Given the description of an element on the screen output the (x, y) to click on. 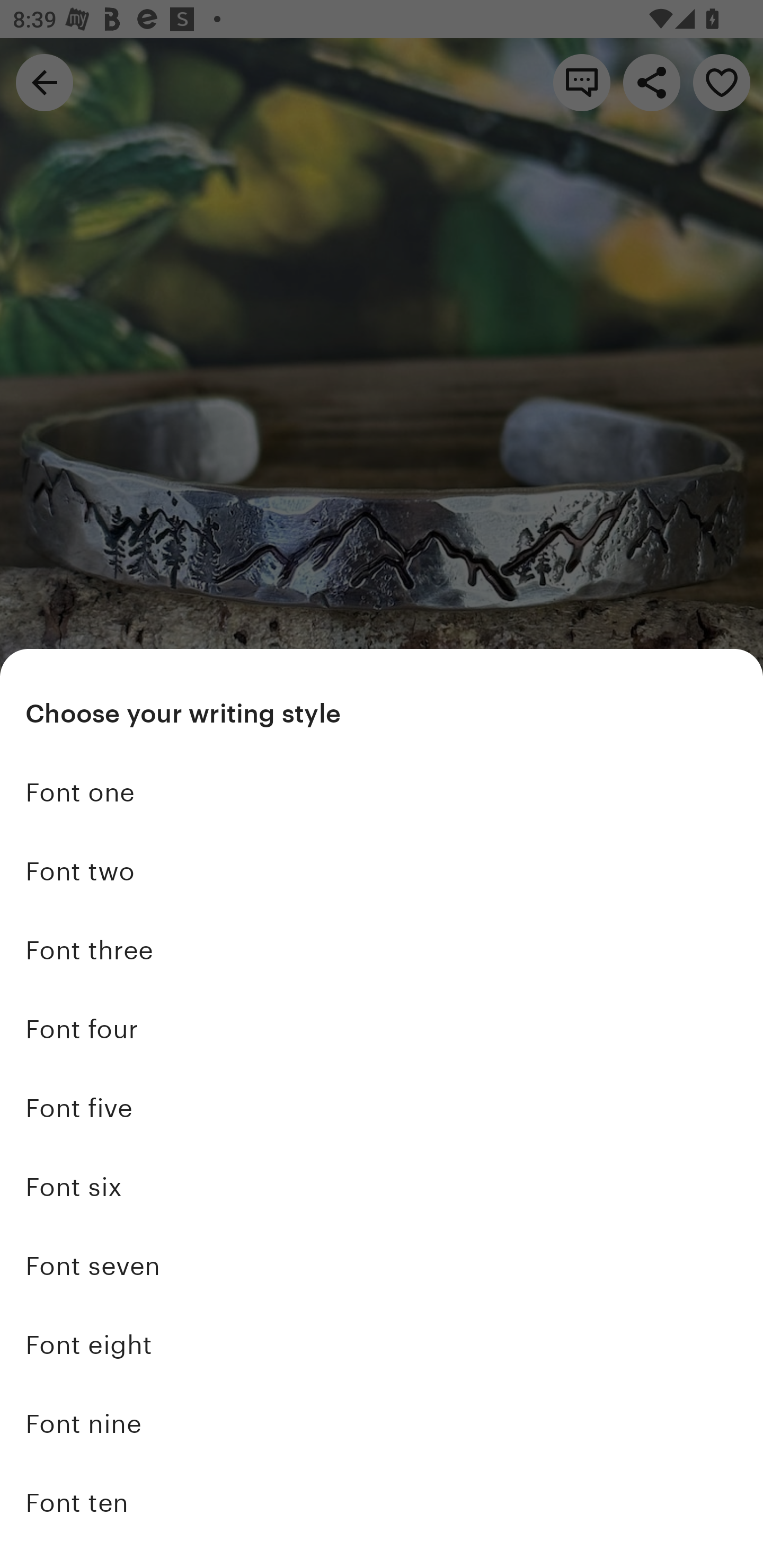
Font one (381, 792)
Font two (381, 871)
Font three (381, 950)
Font four (381, 1029)
Font five (381, 1108)
Font six (381, 1186)
Font seven (381, 1266)
Font eight (381, 1345)
Font nine (381, 1423)
Font ten (381, 1502)
